Given the description of an element on the screen output the (x, y) to click on. 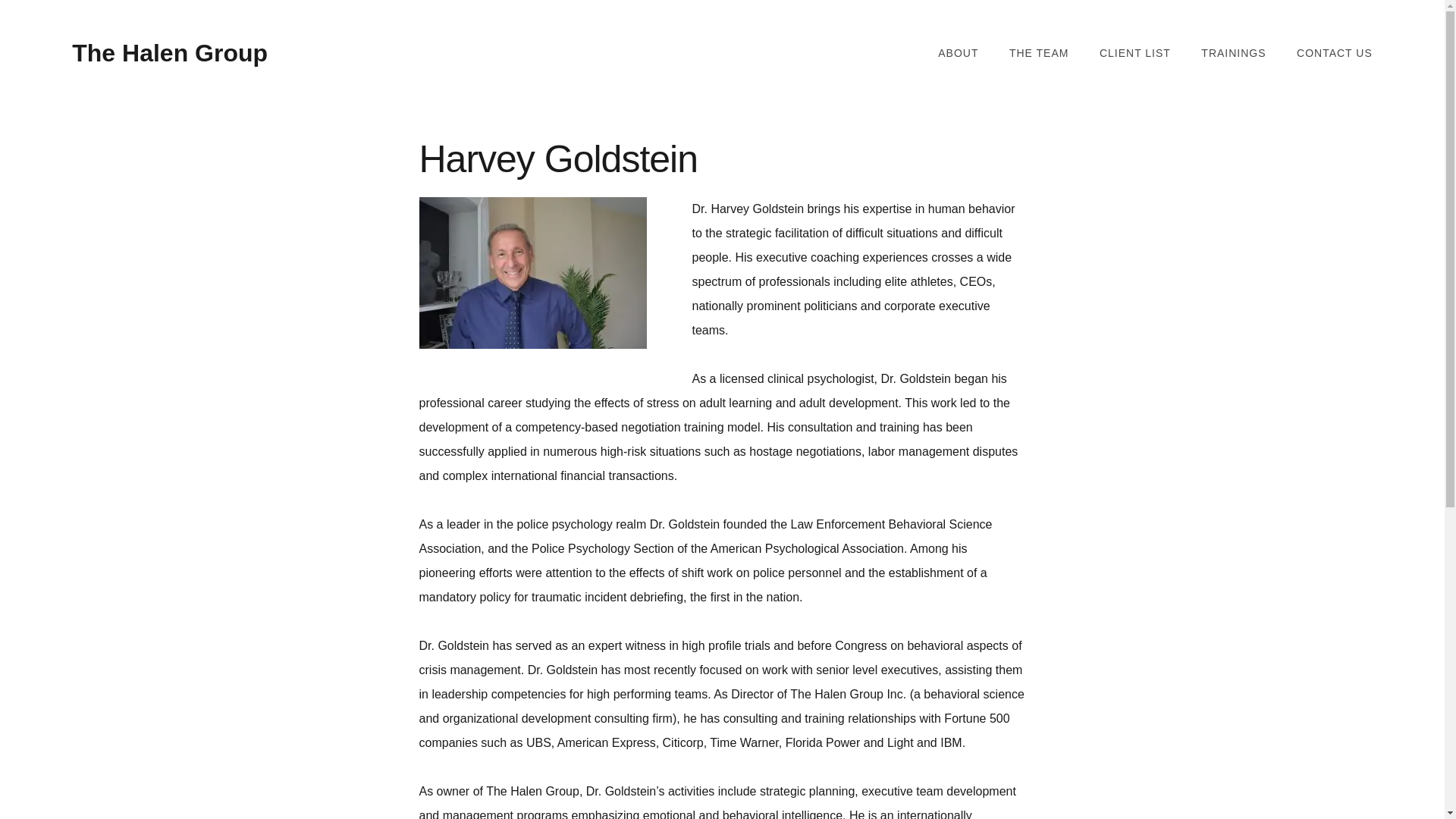
CLIENT LIST (1134, 53)
The Halen Group (169, 52)
CONTACT US (1335, 53)
THE TEAM (1038, 53)
TRAININGS (1233, 53)
